Given the description of an element on the screen output the (x, y) to click on. 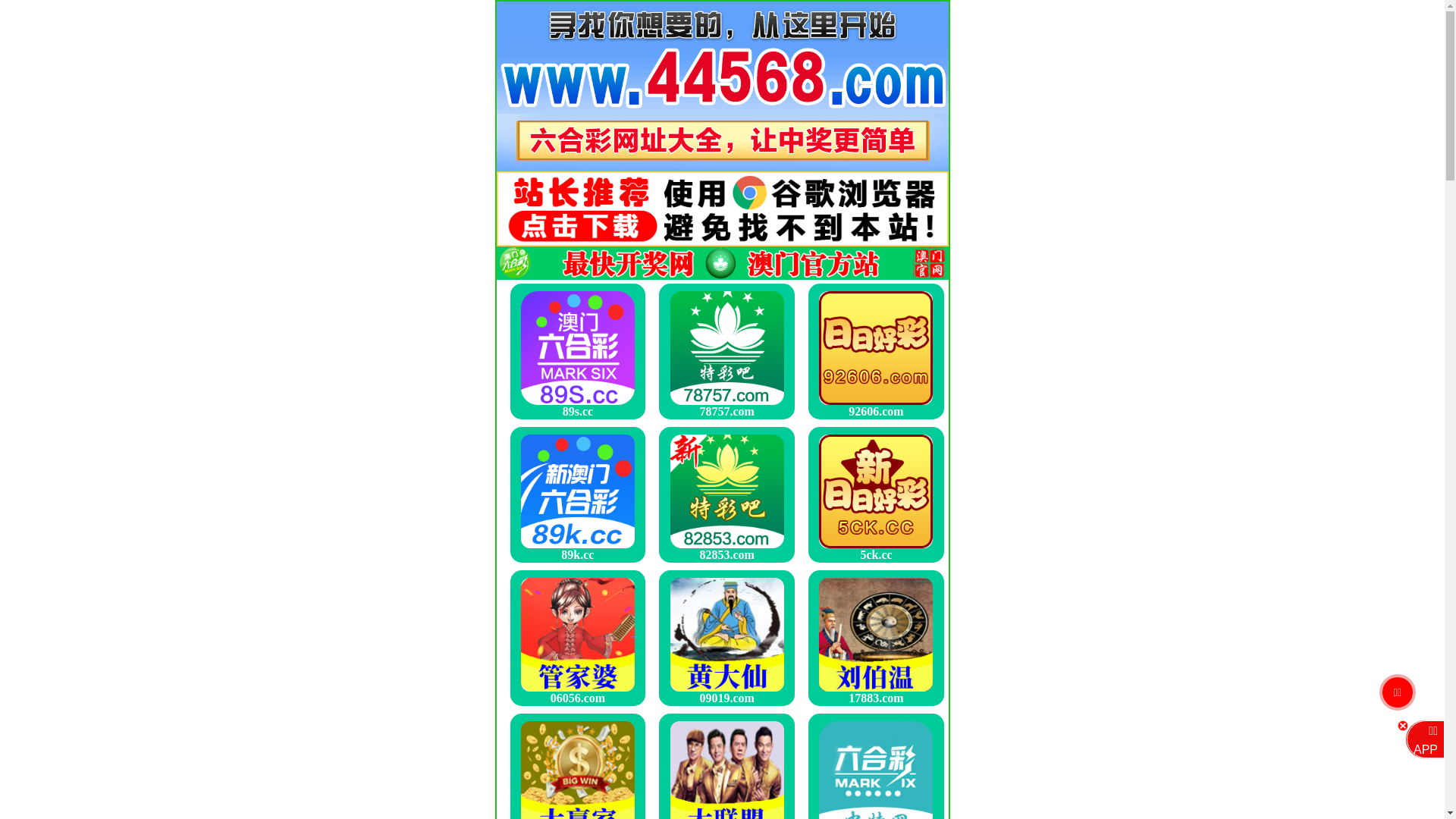
17883.com Element type: text (875, 637)
09019.com Element type: text (727, 637)
06056.com Element type: text (577, 637)
78757.com Element type: text (727, 350)
89k.cc Element type: text (577, 493)
82853.com Element type: text (727, 493)
5ck.cc Element type: text (875, 493)
89s.cc Element type: text (577, 350)
92606.com Element type: text (875, 350)
